Given the description of an element on the screen output the (x, y) to click on. 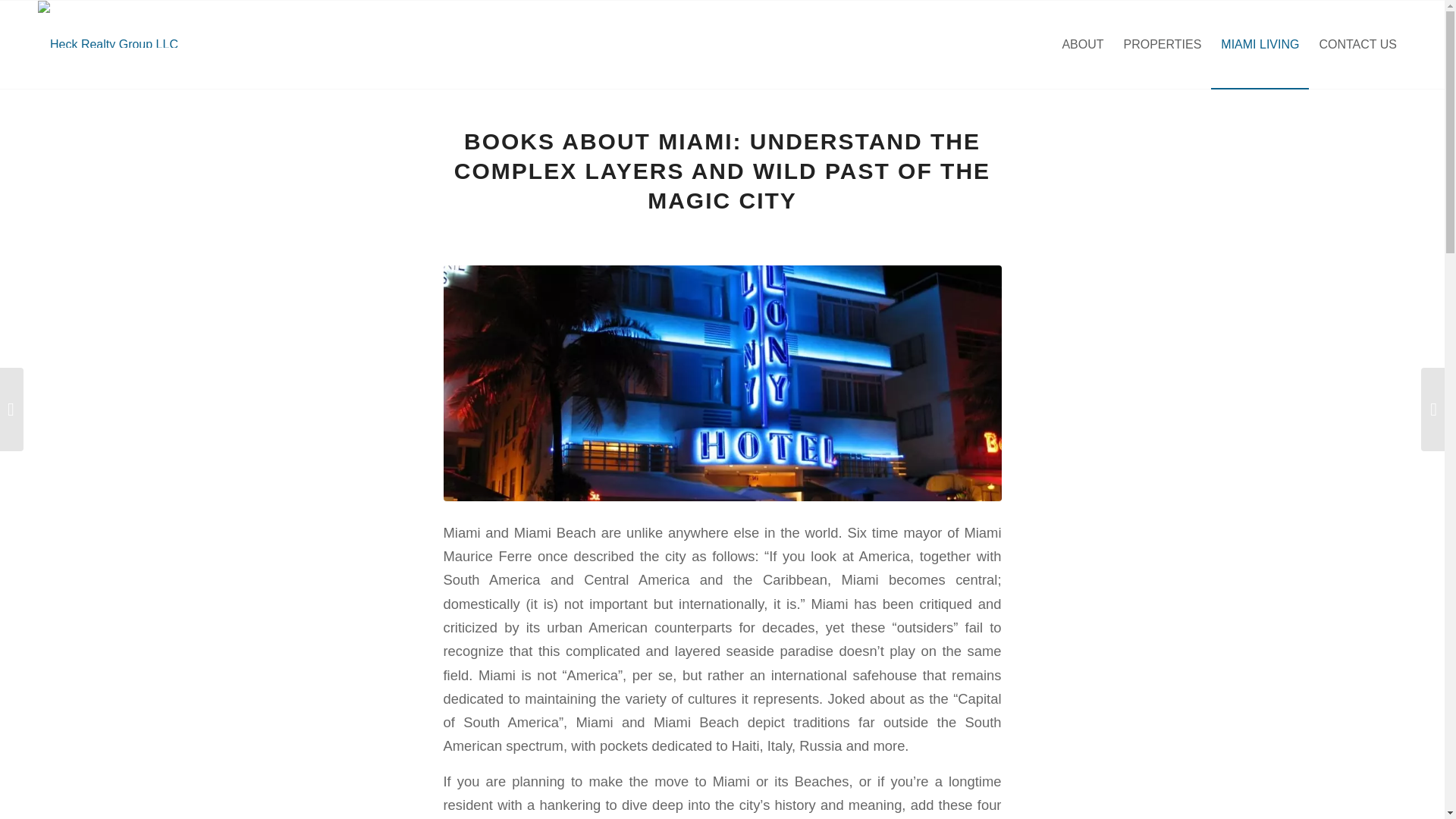
CONTACT US (1357, 44)
MIAMI LIVING (1259, 44)
ABOUT (1082, 44)
PROPERTIES (1162, 44)
Heck Realty Group, LLC (107, 23)
Heck Realty Group, LLC (107, 44)
Colony Hotel (721, 383)
